Given the description of an element on the screen output the (x, y) to click on. 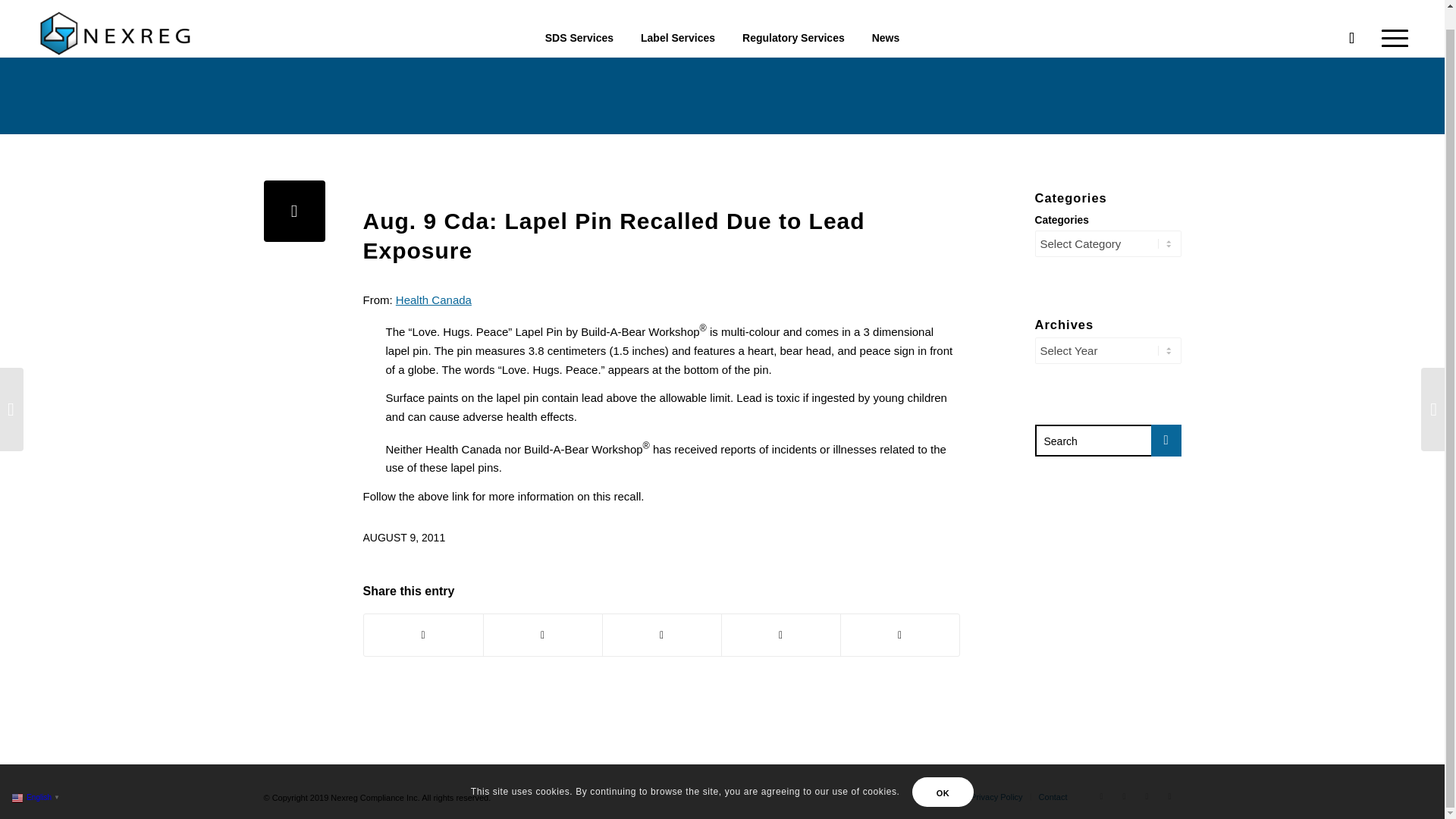
Twitter (1101, 795)
Health Canada (433, 299)
Linkedin (1146, 795)
Instagram (1169, 795)
Facebook (1124, 795)
Regulatory Services (794, 18)
Aug. 9 Cda: Lapel Pin Recalled Due to Lead Exposure (293, 210)
Label Services (678, 18)
SDS Services (579, 18)
